Given the description of an element on the screen output the (x, y) to click on. 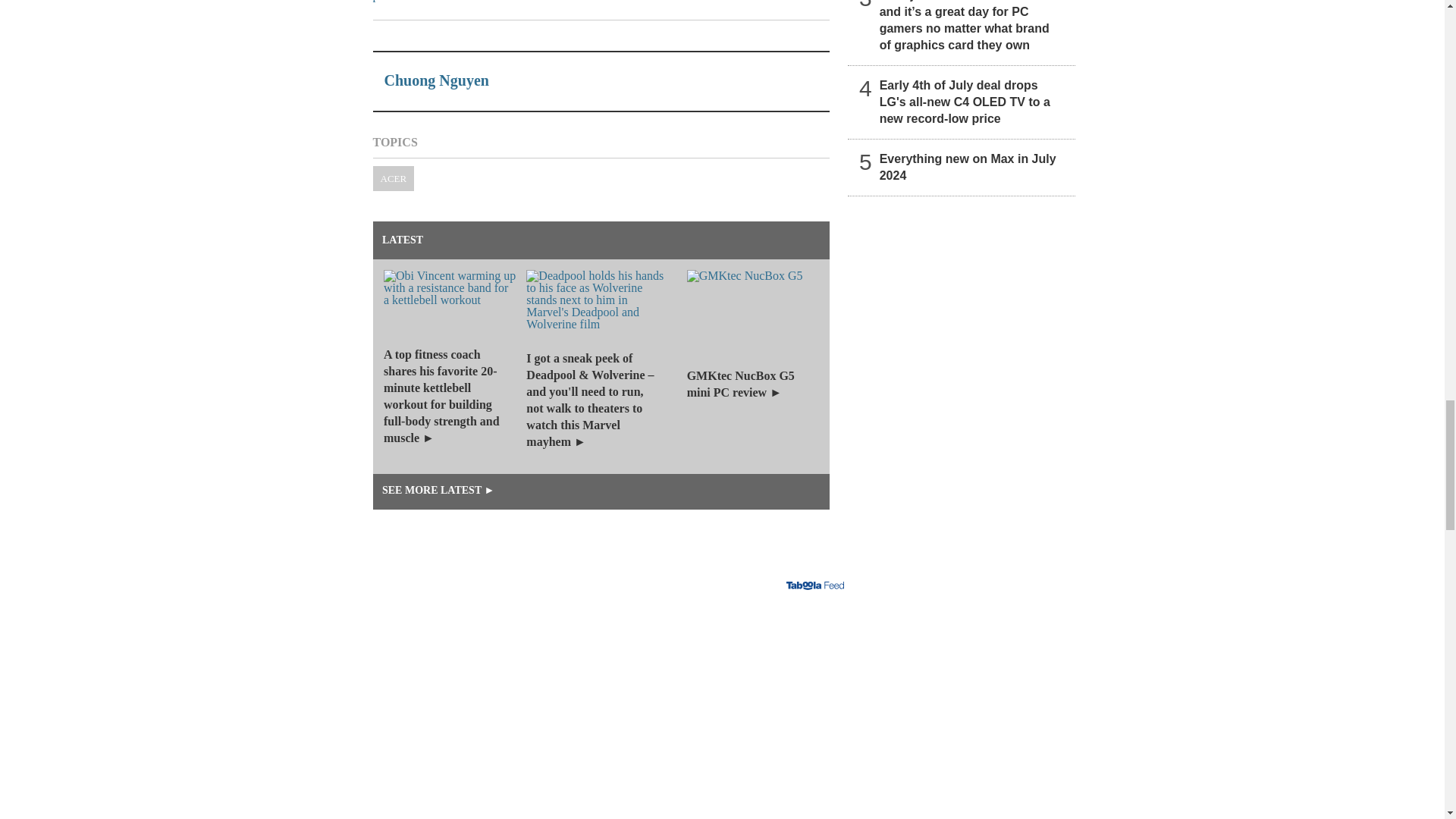
If you own a mouse, play it for 1 minute. (619, 709)
